Given the description of an element on the screen output the (x, y) to click on. 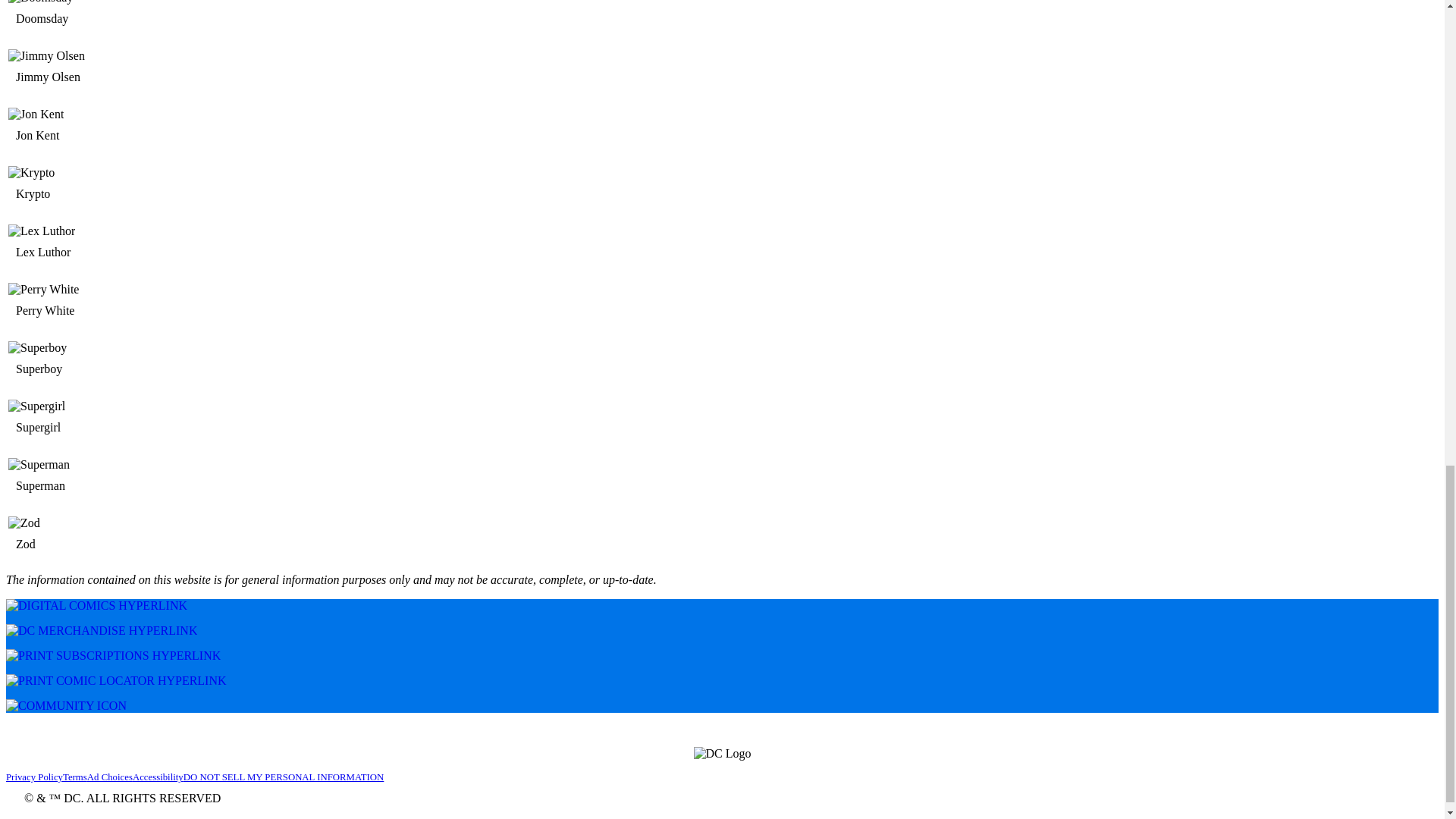
Jimmy Olsen (127, 70)
Krypto (127, 172)
Jon Kent (43, 135)
Doomsday (127, 2)
Krypto (127, 187)
Jimmy Olsen (54, 77)
Jon Kent (127, 128)
Jon Kent (127, 114)
Doomsday (127, 16)
Krypto (39, 193)
Jimmy Olsen (127, 56)
Doomsday (48, 18)
